Given the description of an element on the screen output the (x, y) to click on. 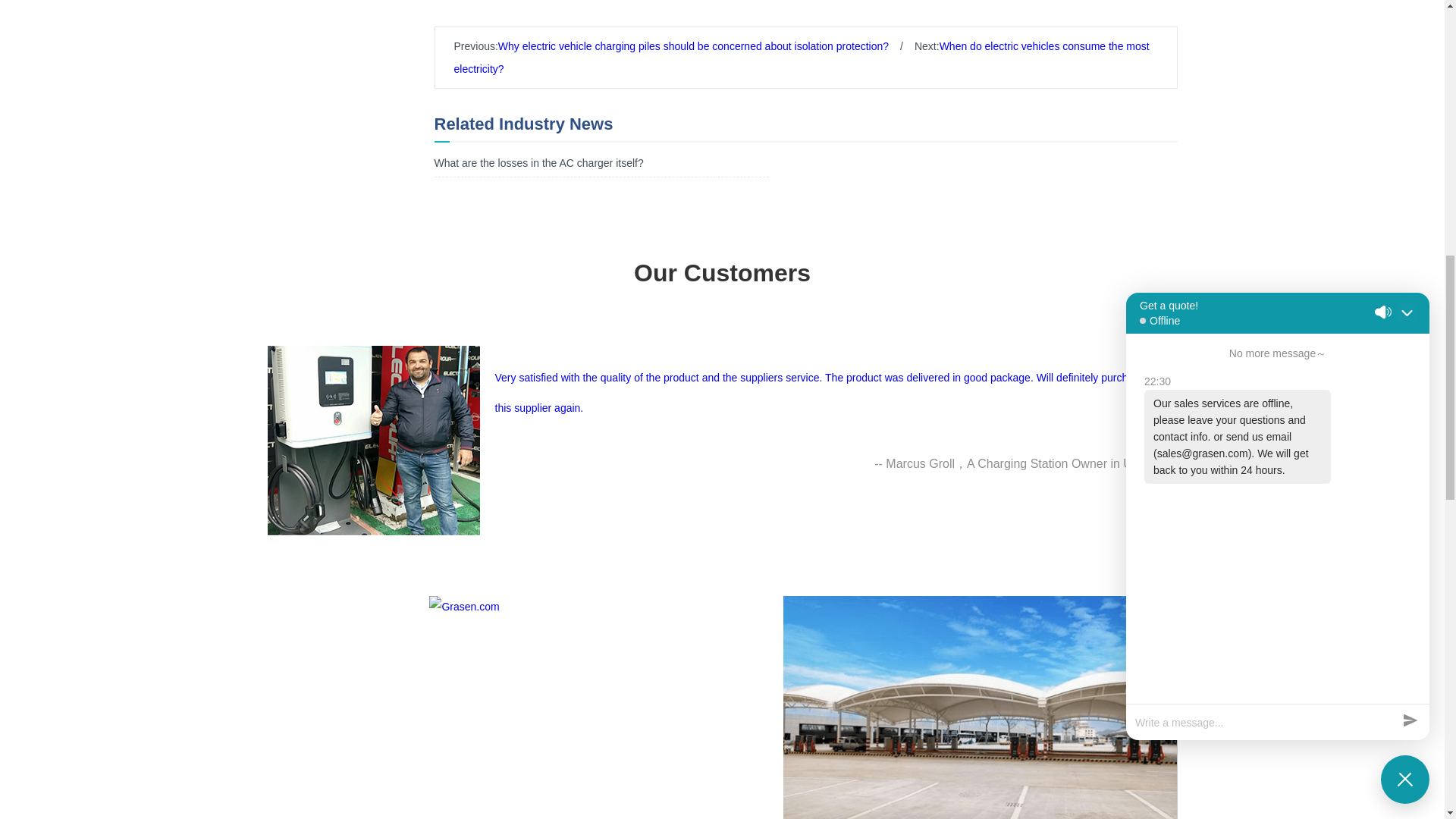
What are the losses in the AC charger itself? (538, 162)
